Given the description of an element on the screen output the (x, y) to click on. 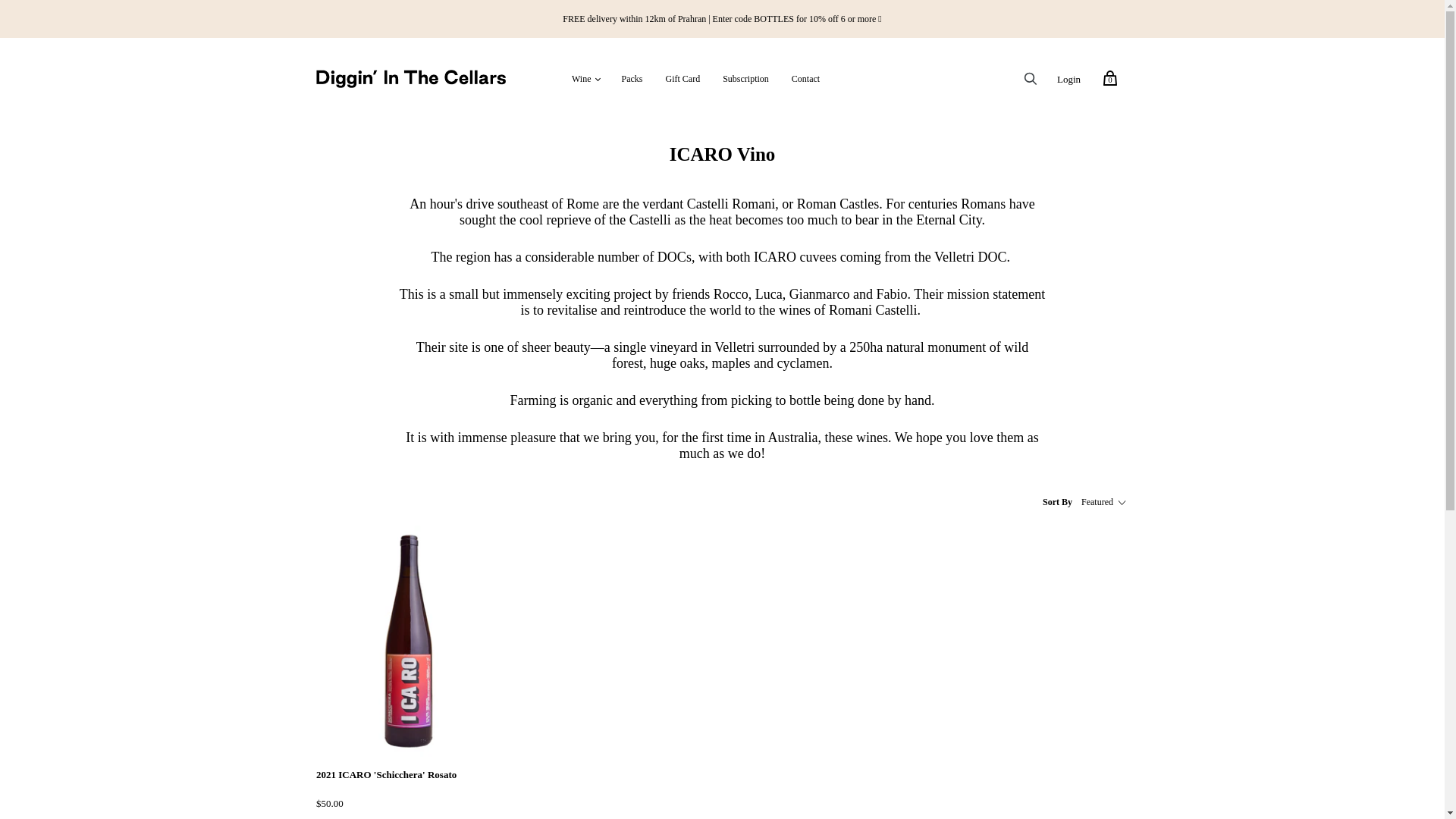
Subscription (745, 79)
Contact (805, 79)
Gift Card (682, 79)
Packs (631, 79)
Wine (581, 79)
